Given the description of an element on the screen output the (x, y) to click on. 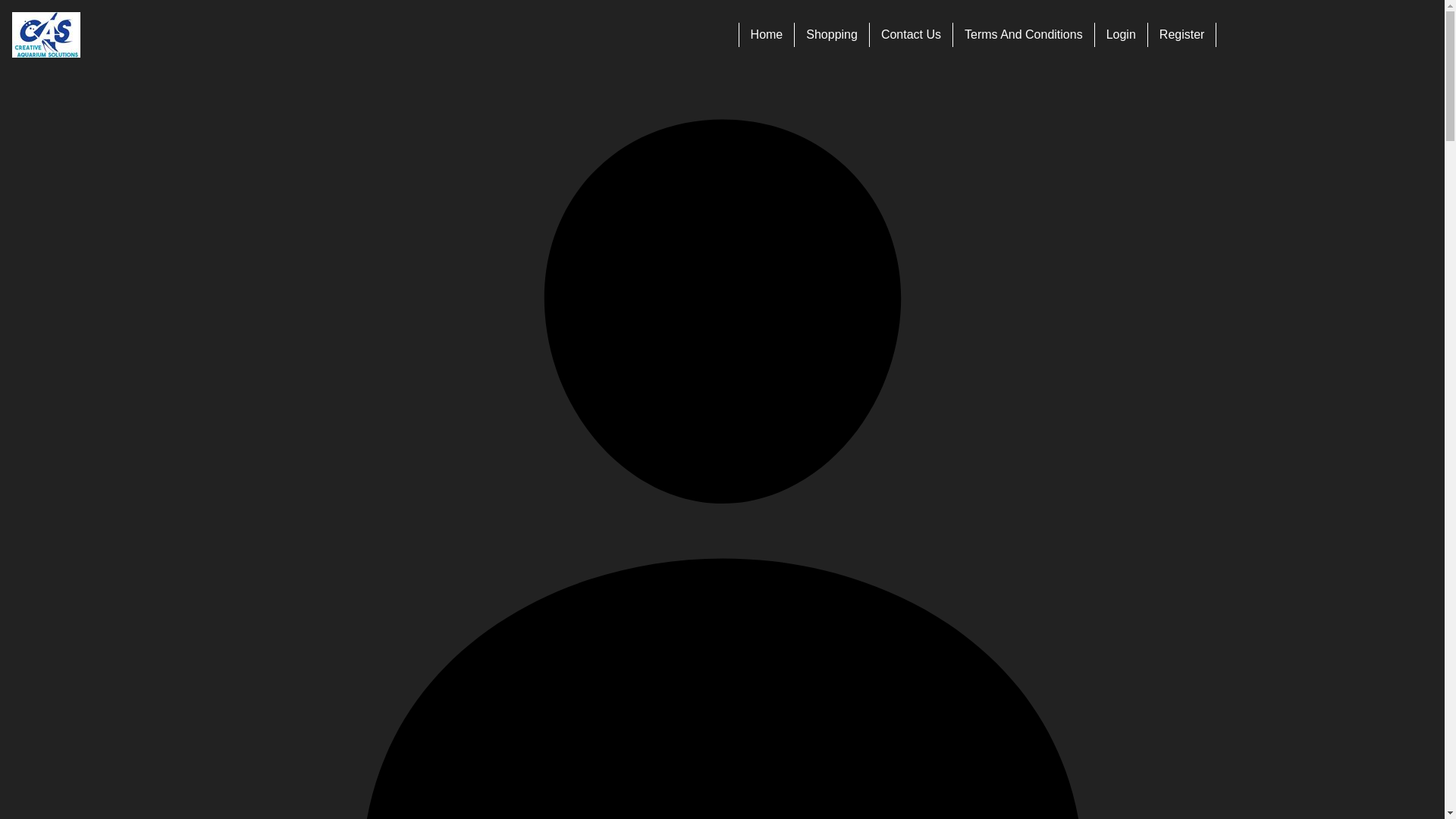
Shopping (831, 34)
Home (766, 34)
